Given the description of an element on the screen output the (x, y) to click on. 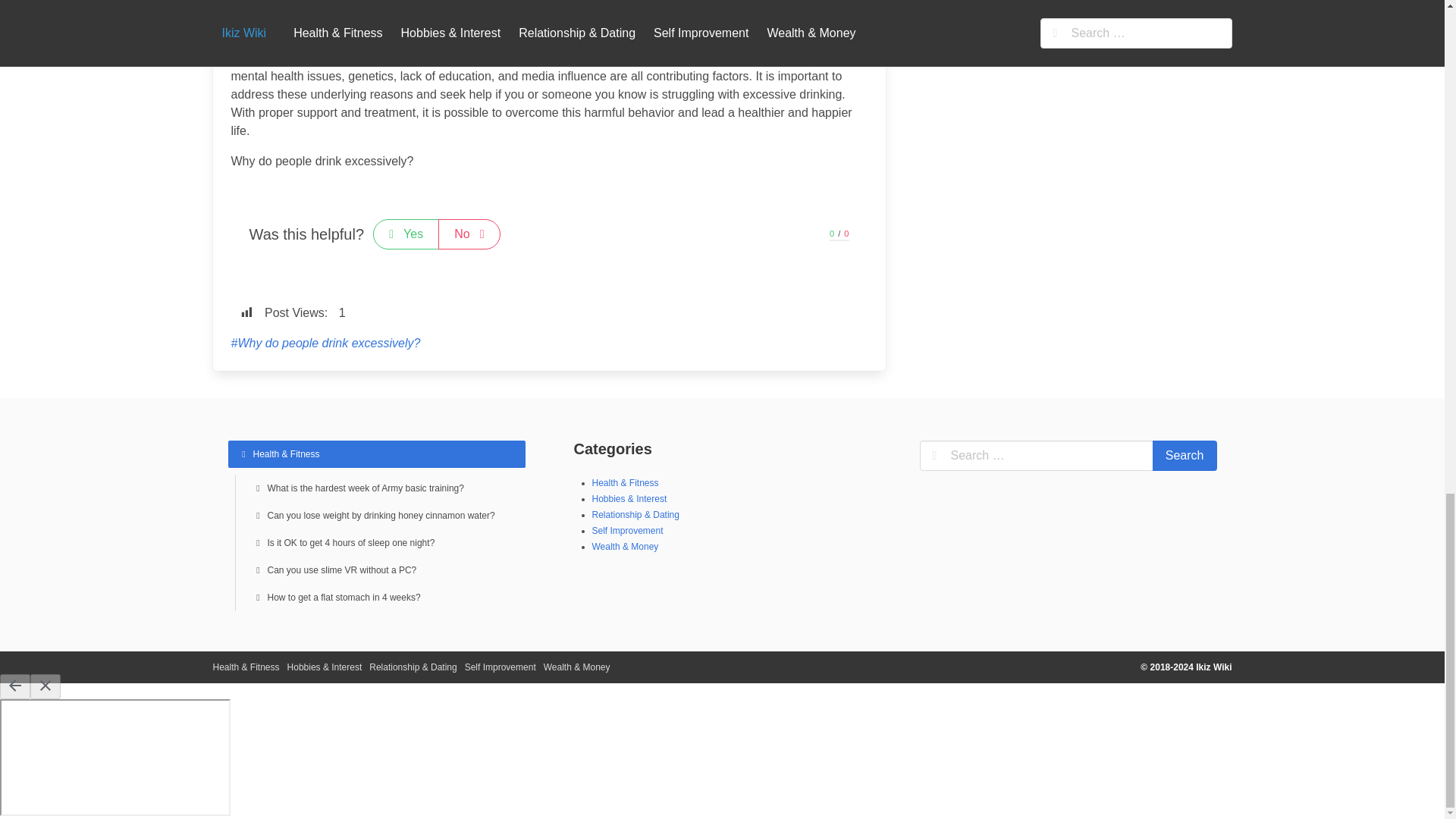
No (468, 234)
Yes (405, 234)
Search (1185, 455)
